Given the description of an element on the screen output the (x, y) to click on. 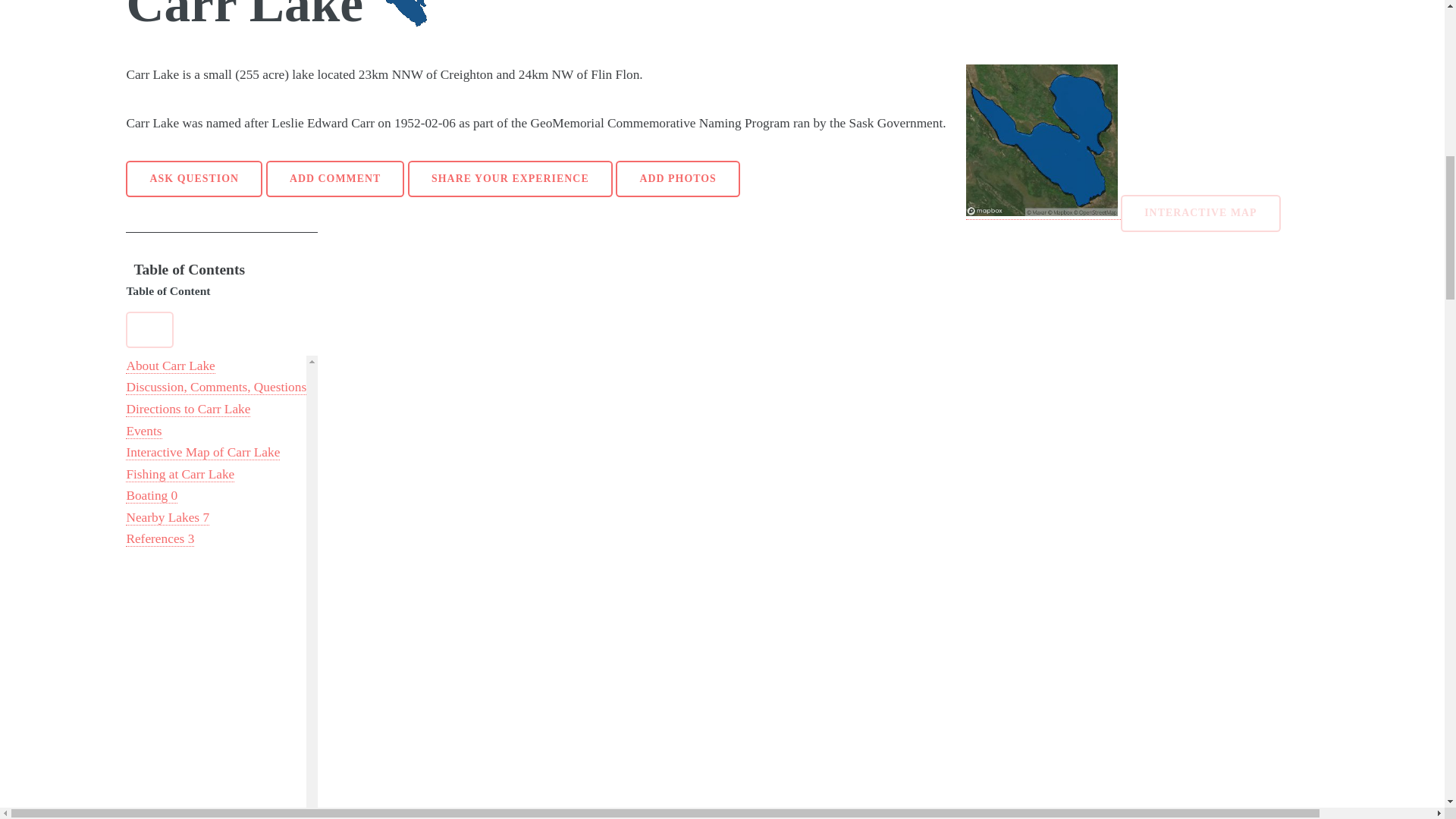
Fishing at Carr Lake (179, 474)
ASK QUESTION (193, 179)
Interactive Map of Carr Lake (202, 452)
ADD COMMENT (335, 179)
Events (143, 431)
INTERACTIVE MAP (1201, 212)
SHARE YOUR EXPERIENCE (509, 179)
Discussion, Comments, Questions (215, 387)
Directions to Carr Lake (187, 409)
ADD PHOTOS (677, 179)
